Given the description of an element on the screen output the (x, y) to click on. 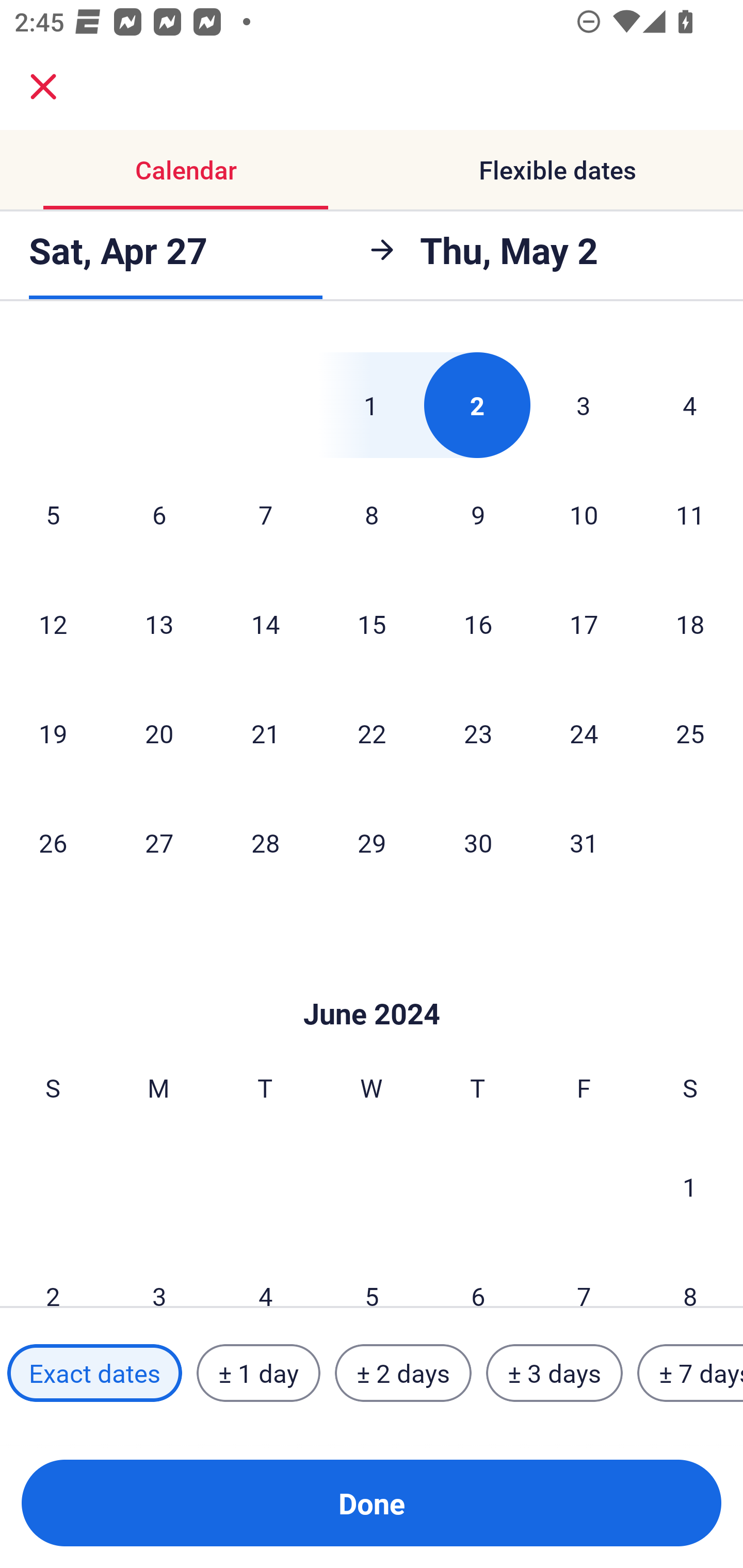
close. (43, 86)
Flexible dates (557, 170)
3 Friday, May 3, 2024 (583, 404)
4 Saturday, May 4, 2024 (689, 404)
5 Sunday, May 5, 2024 (53, 513)
6 Monday, May 6, 2024 (159, 513)
7 Tuesday, May 7, 2024 (265, 513)
8 Wednesday, May 8, 2024 (371, 513)
9 Thursday, May 9, 2024 (477, 513)
10 Friday, May 10, 2024 (584, 513)
11 Saturday, May 11, 2024 (690, 513)
12 Sunday, May 12, 2024 (53, 623)
13 Monday, May 13, 2024 (159, 623)
14 Tuesday, May 14, 2024 (265, 623)
15 Wednesday, May 15, 2024 (371, 623)
16 Thursday, May 16, 2024 (477, 623)
17 Friday, May 17, 2024 (584, 623)
18 Saturday, May 18, 2024 (690, 623)
19 Sunday, May 19, 2024 (53, 732)
20 Monday, May 20, 2024 (159, 732)
21 Tuesday, May 21, 2024 (265, 732)
22 Wednesday, May 22, 2024 (371, 732)
23 Thursday, May 23, 2024 (477, 732)
24 Friday, May 24, 2024 (584, 732)
25 Saturday, May 25, 2024 (690, 732)
26 Sunday, May 26, 2024 (53, 842)
27 Monday, May 27, 2024 (159, 842)
28 Tuesday, May 28, 2024 (265, 842)
29 Wednesday, May 29, 2024 (371, 842)
30 Thursday, May 30, 2024 (477, 842)
31 Friday, May 31, 2024 (584, 842)
Skip to Done (371, 983)
1 Saturday, June 1, 2024 (689, 1185)
2 Sunday, June 2, 2024 (53, 1274)
3 Monday, June 3, 2024 (159, 1274)
4 Tuesday, June 4, 2024 (265, 1274)
5 Wednesday, June 5, 2024 (371, 1274)
6 Thursday, June 6, 2024 (477, 1274)
7 Friday, June 7, 2024 (584, 1274)
8 Saturday, June 8, 2024 (690, 1274)
Exact dates (94, 1372)
± 1 day (258, 1372)
± 2 days (403, 1372)
± 3 days (553, 1372)
± 7 days (690, 1372)
Done (371, 1502)
